Given the description of an element on the screen output the (x, y) to click on. 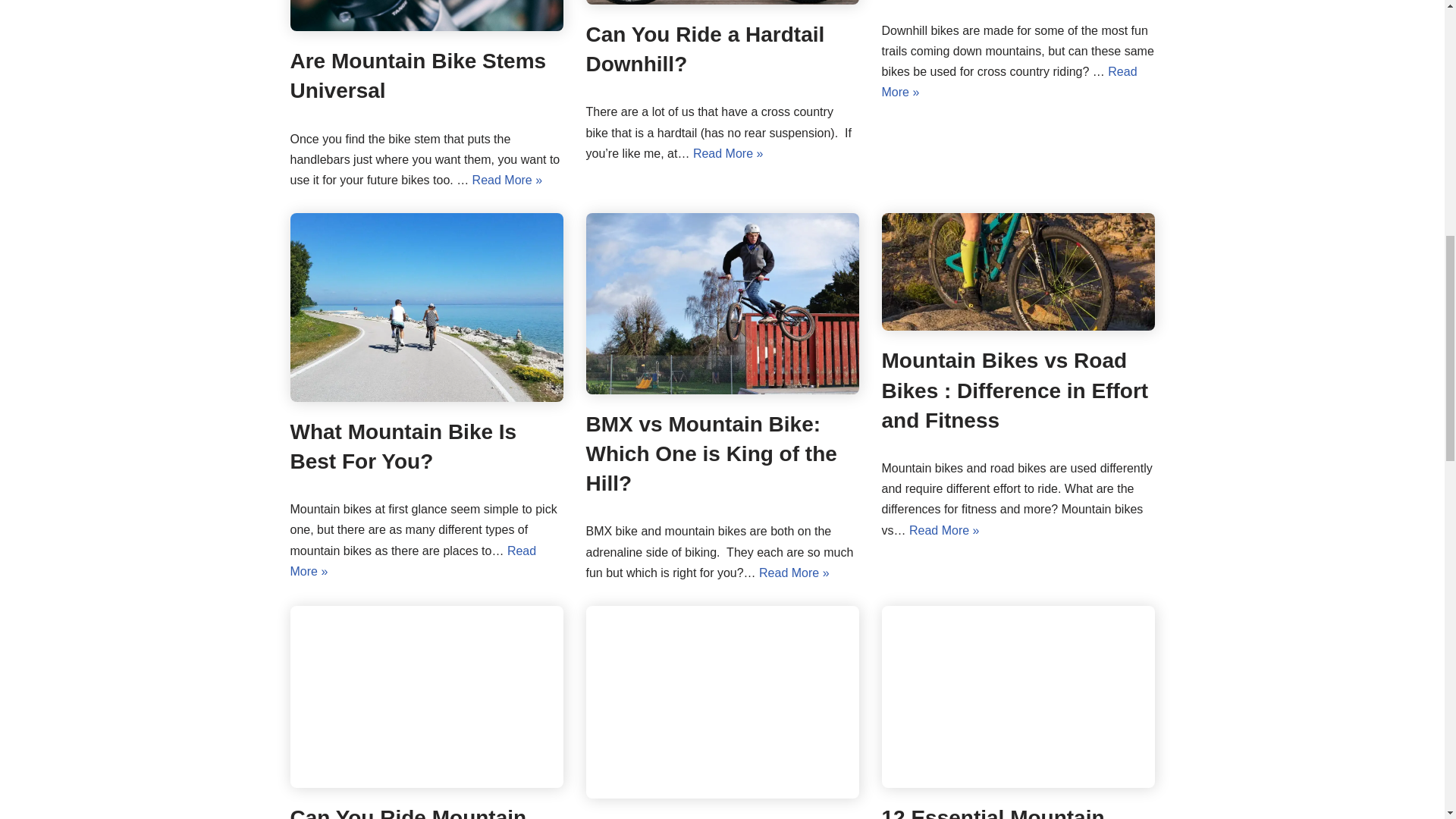
12 Essential Mountain Bike Gear for Beginners (1017, 696)
What Mountain Bike Is Best For You? (425, 307)
BMX vs Mountain Bike: Which One is King of the Hill? (722, 302)
Can You Ride a Hardtail Downhill? (722, 2)
Are Mountain Bike Stems Universal (417, 75)
Are Mountain Bike Stems Universal (425, 15)
What Are Mountain Biking Shoes and Which Ones Do You Need? (722, 702)
